Given the description of an element on the screen output the (x, y) to click on. 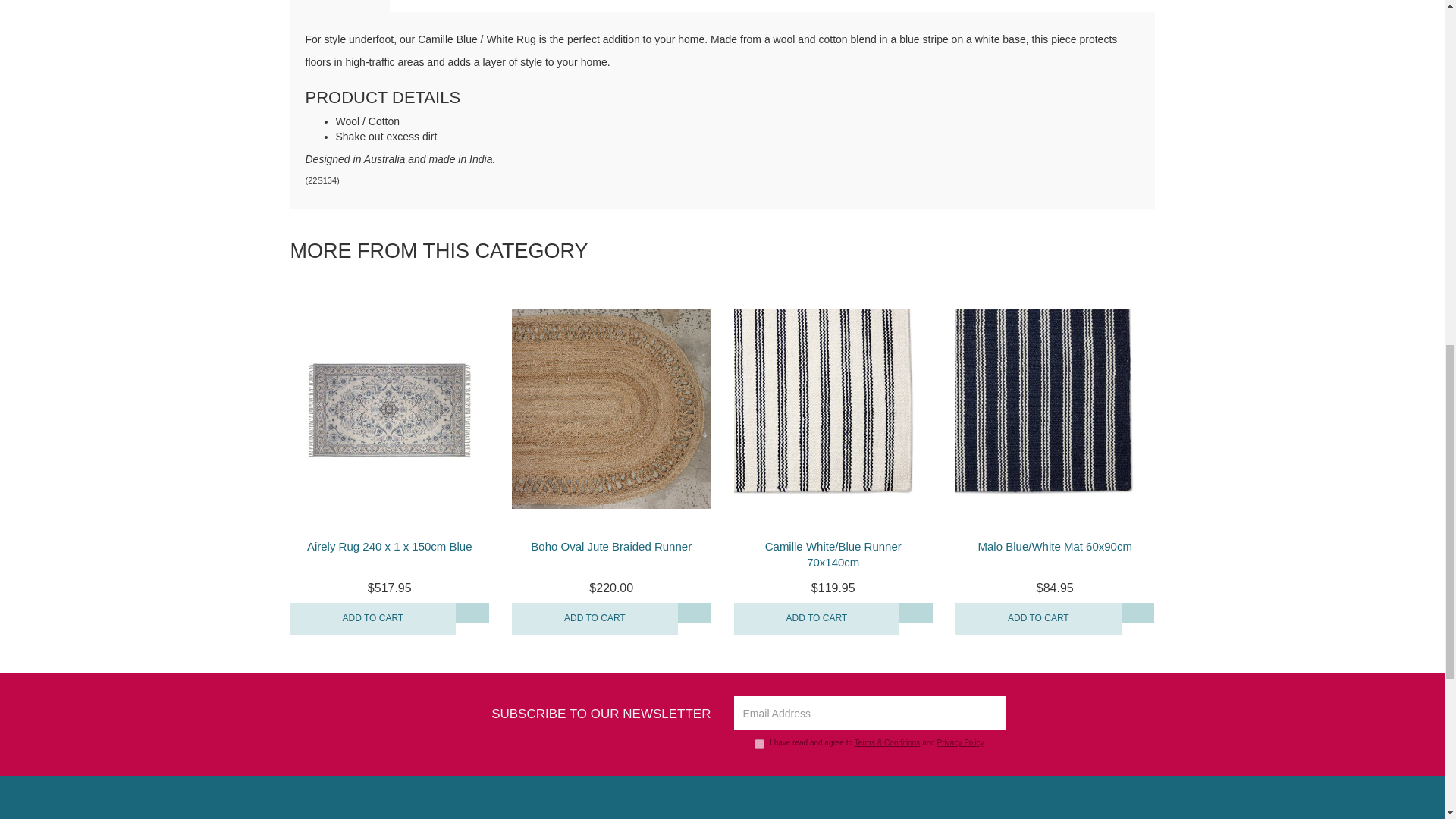
Add to Cart (816, 618)
y (759, 744)
Add to Cart (595, 618)
Add to Cart (1038, 618)
Add to Cart (372, 618)
Boho Oval Jute Braided Runner (611, 545)
Airely Rug 240 x 1 x 150cm Blue (389, 545)
